Given the description of an element on the screen output the (x, y) to click on. 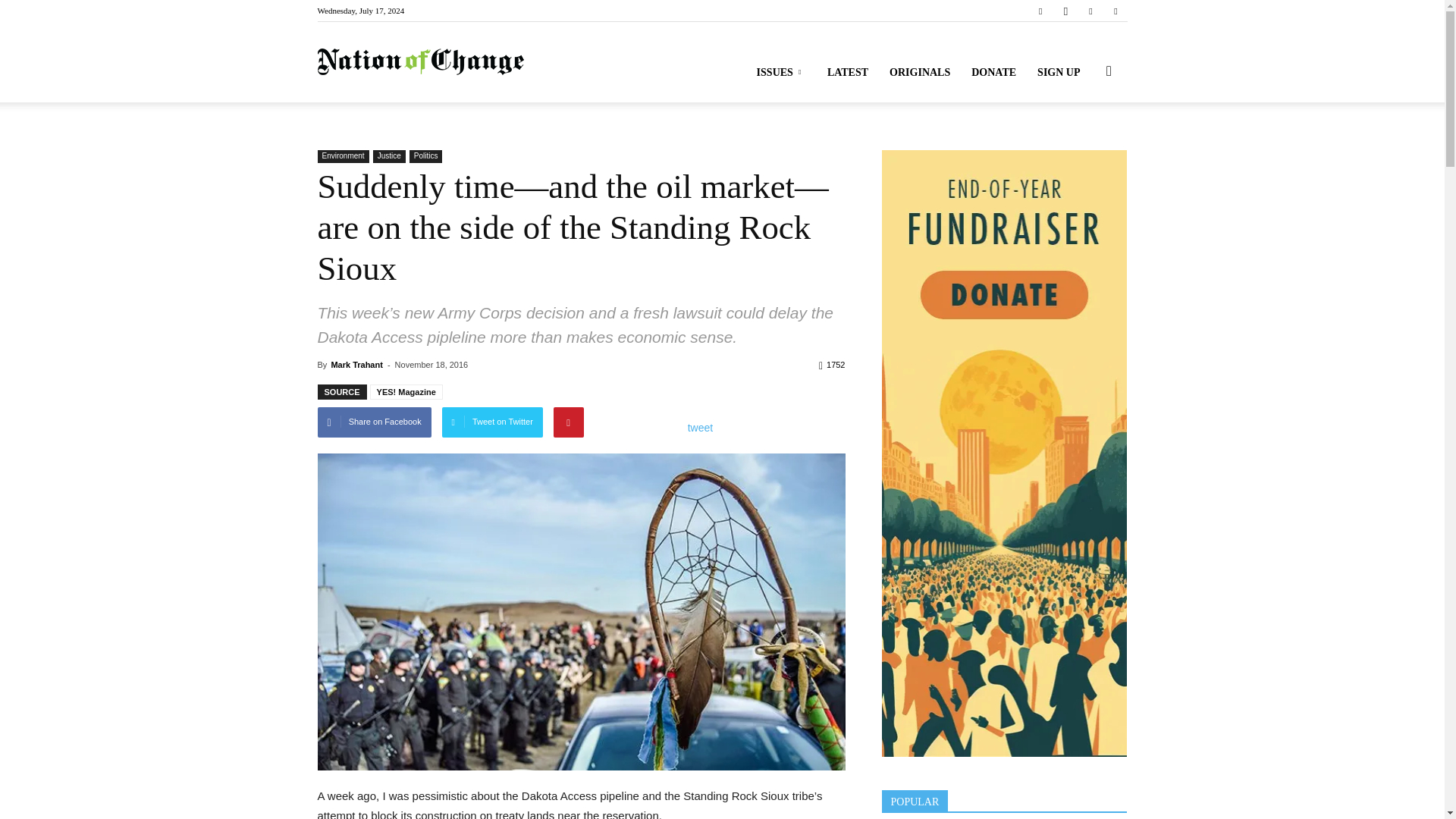
Youtube (1114, 10)
ISSUES (780, 72)
NationofChange (419, 61)
Instagram (1065, 10)
Twitter (1090, 10)
Facebook (1040, 10)
